Given the description of an element on the screen output the (x, y) to click on. 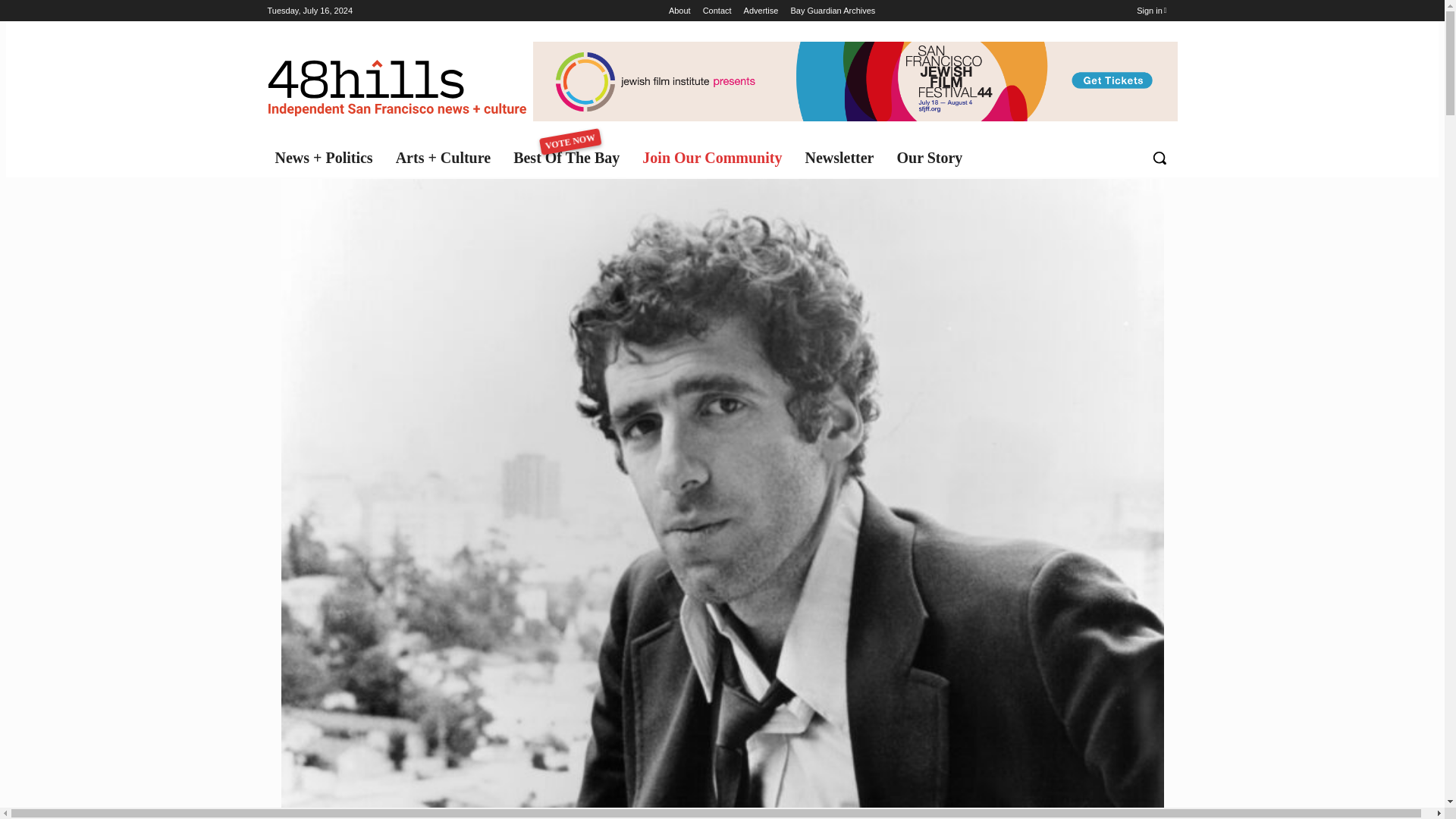
48 Hills (569, 157)
Our Story (399, 84)
Join Our Community (932, 157)
About (715, 157)
Sign in (679, 10)
Bay Guardian Archives (1151, 10)
Advertise (832, 10)
Contact (761, 10)
Newsletter (717, 10)
